Given the description of an element on the screen output the (x, y) to click on. 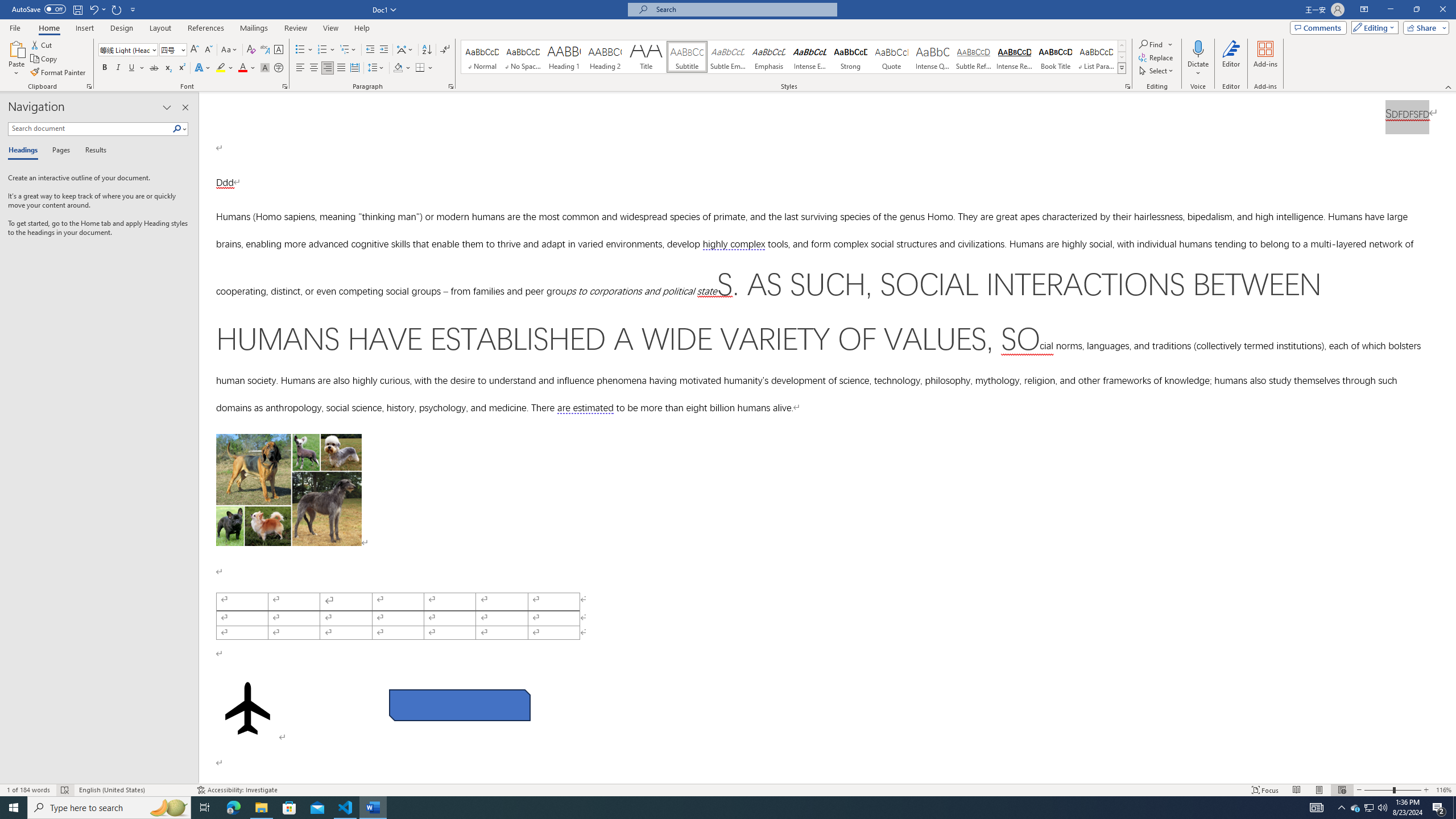
Intense Emphasis (809, 56)
Font Color Red (241, 67)
Office Clipboard... (88, 85)
Quote (891, 56)
Italic (118, 67)
Text Highlight Color Yellow (220, 67)
